Given the description of an element on the screen output the (x, y) to click on. 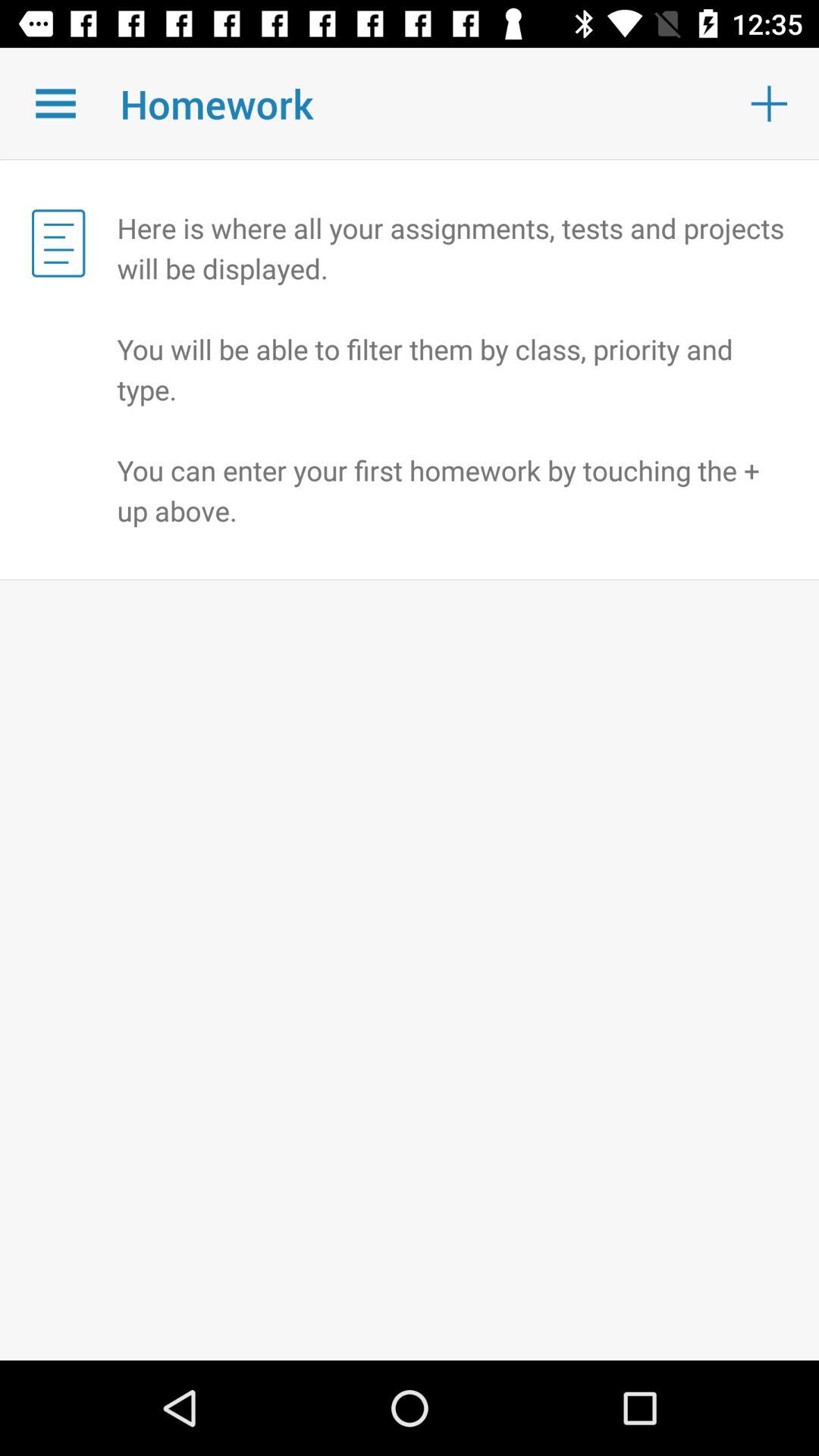
go to more options (55, 103)
